Given the description of an element on the screen output the (x, y) to click on. 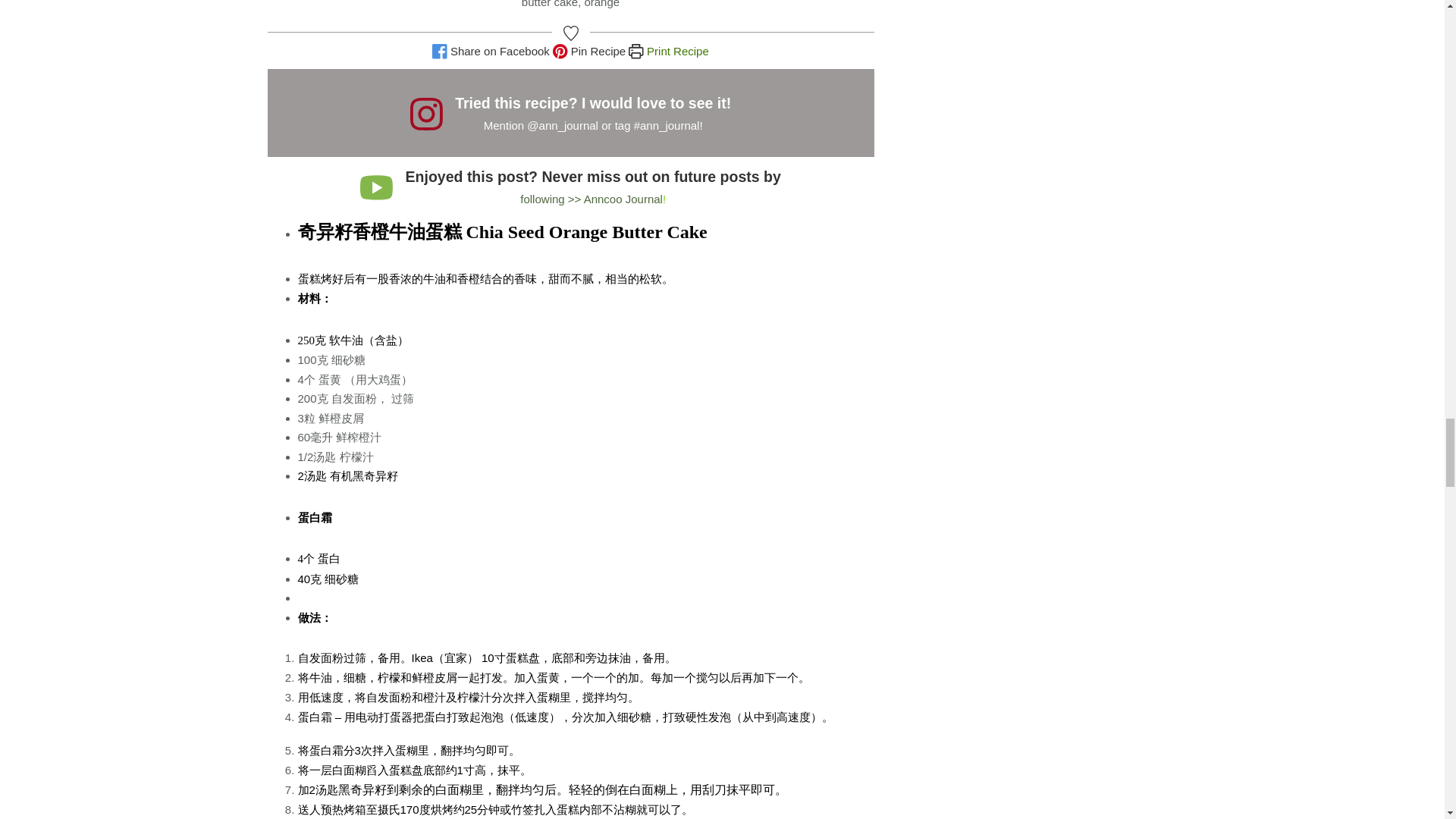
Print Recipe (667, 51)
Share on Facebook (491, 51)
Pin Recipe (589, 51)
